Given the description of an element on the screen output the (x, y) to click on. 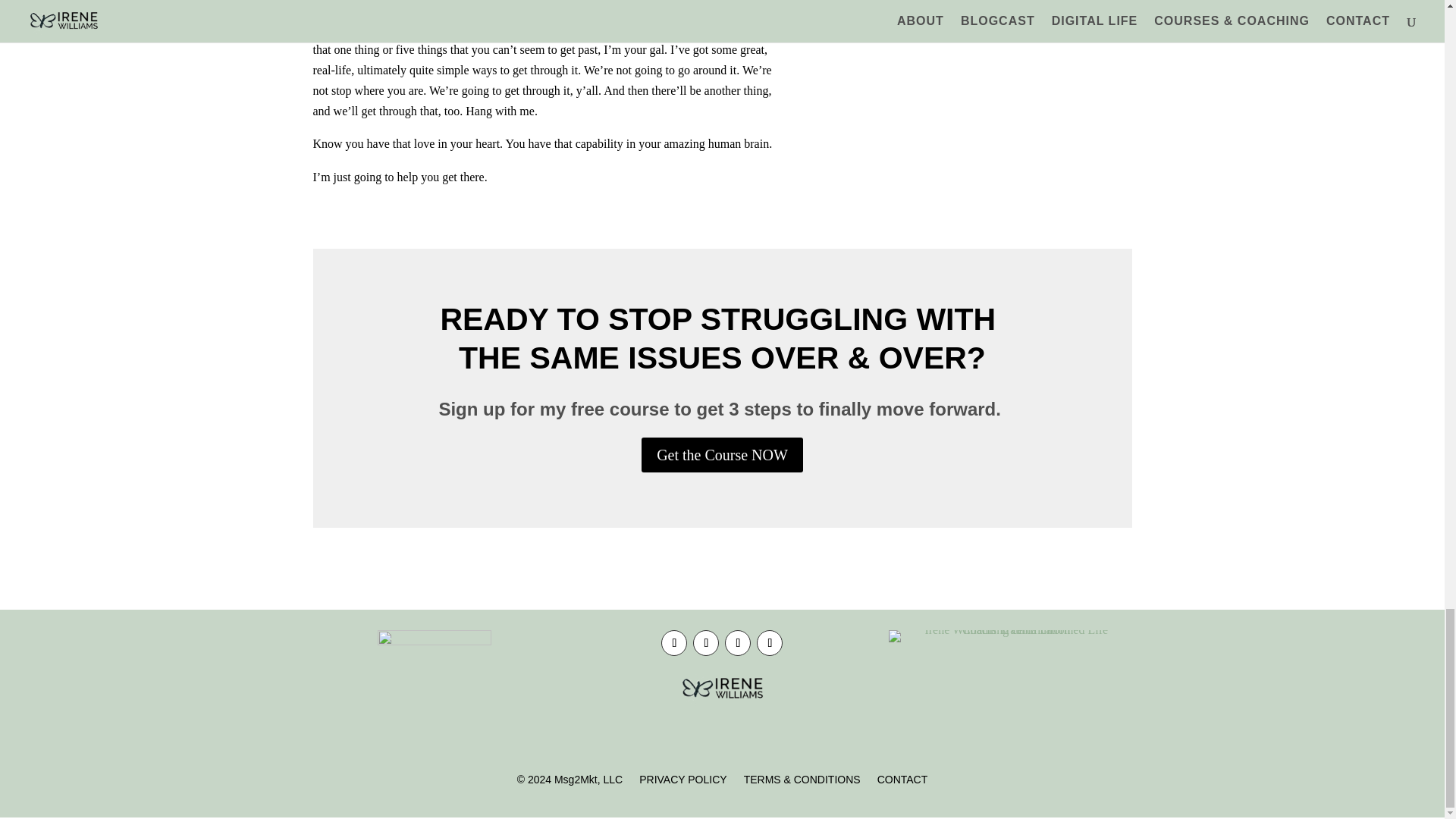
Follow on Facebook (674, 642)
traumainformedcoachingBadge275 (1009, 635)
PRIVACY POLICY (682, 782)
neuroscienceforcoachingBadge275 (434, 686)
Follow on X (706, 642)
Follow on Instagram (738, 642)
irene dot com logo (722, 688)
Get the Course NOW (722, 454)
CONTACT (902, 782)
Follow on Pinterest (770, 642)
